Given the description of an element on the screen output the (x, y) to click on. 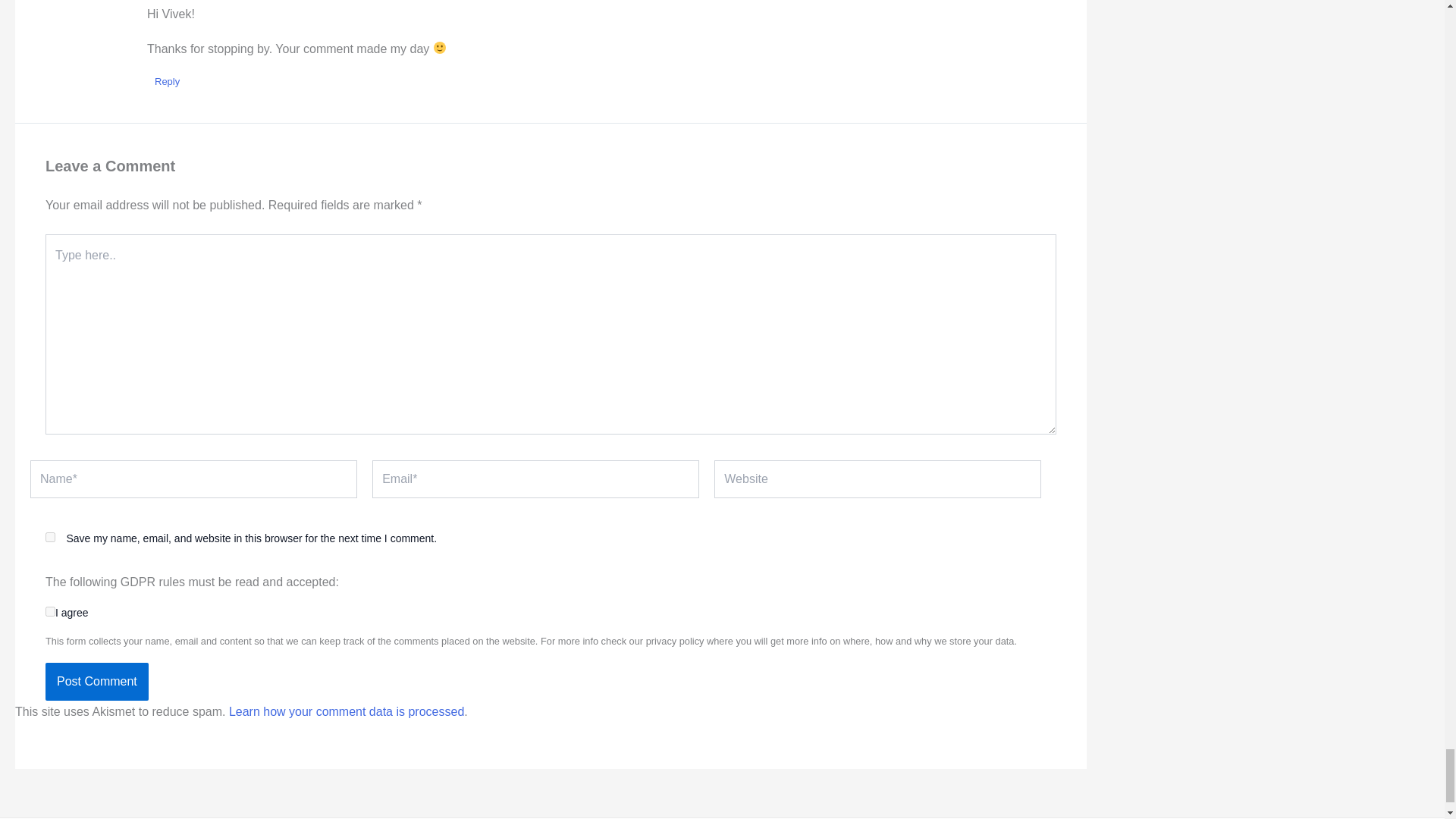
Post Comment (96, 681)
1 (50, 611)
yes (50, 537)
